Given the description of an element on the screen output the (x, y) to click on. 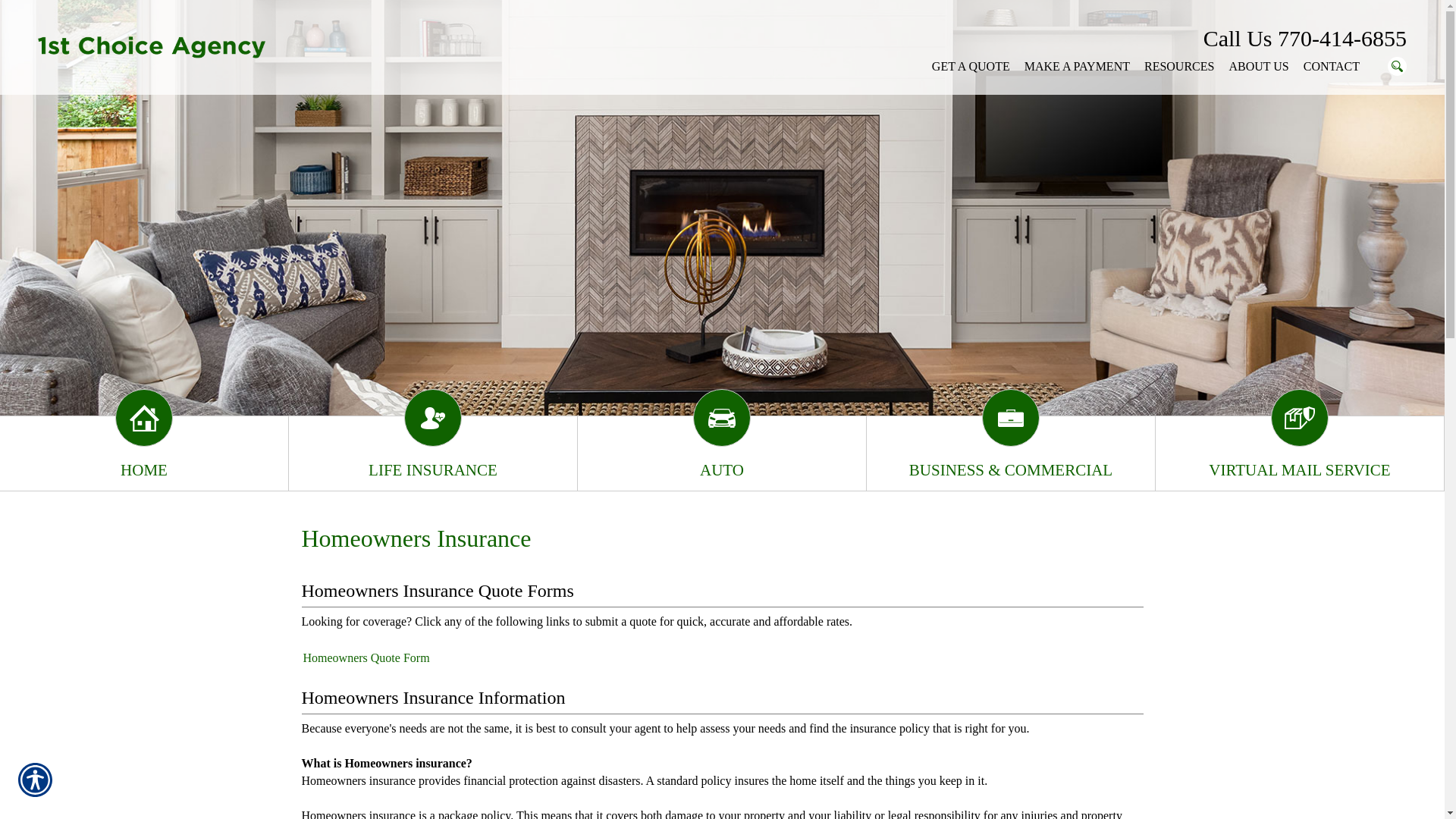
GET A QUOTE Element type: text (970, 66)
RESOURCES Element type: text (1179, 66)
MAKE A PAYMENT Element type: text (1077, 66)
ABOUT US Element type: text (1258, 66)
Homeowners Quote Form Element type: text (366, 658)
Call Us 770-414-6855 Element type: text (1304, 38)
CONTACT Element type: text (1331, 66)
Toggle Accessibility Menu (Alt+A) Element type: hover (35, 779)
